Given the description of an element on the screen output the (x, y) to click on. 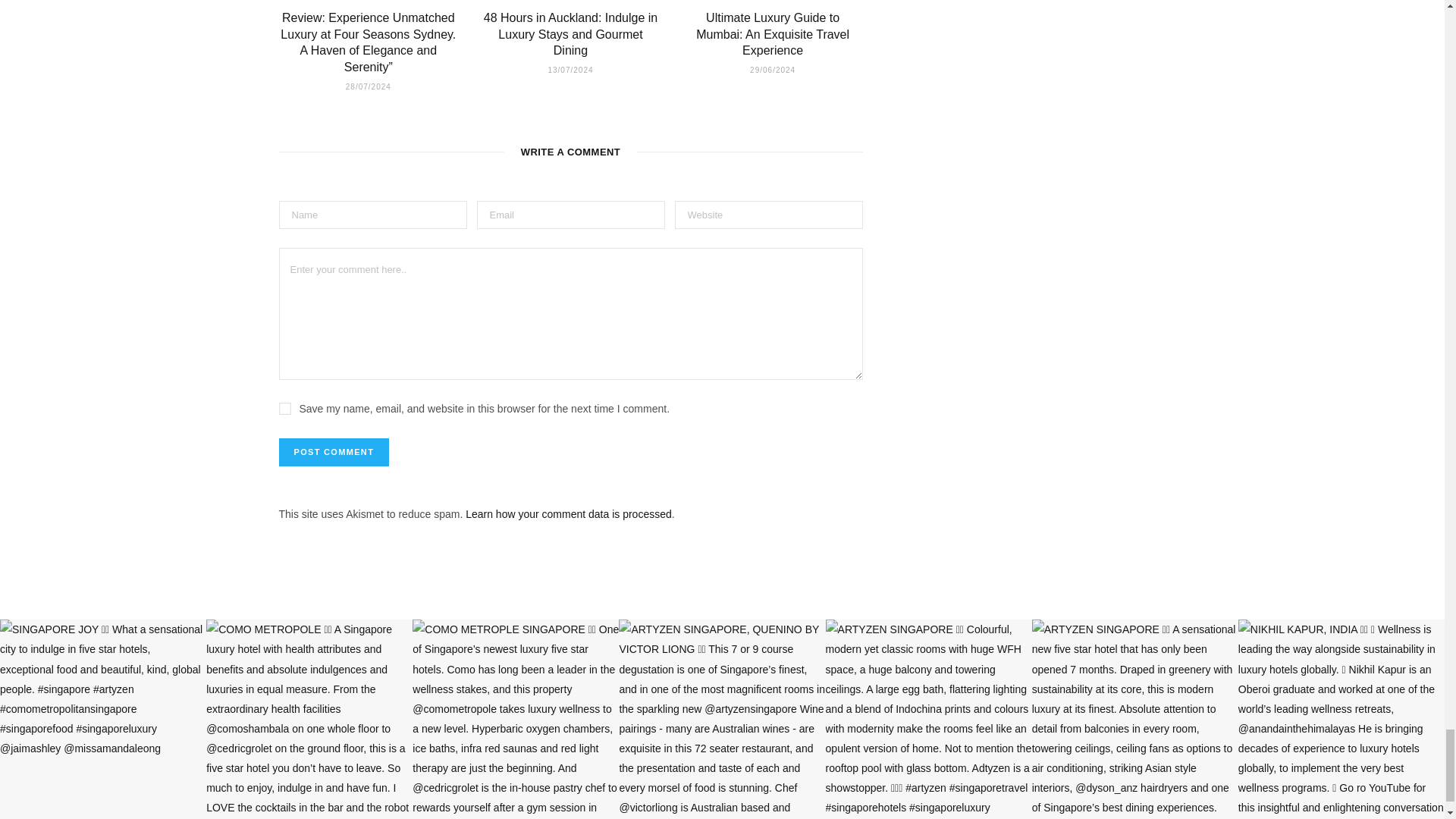
yes (285, 408)
Post Comment (334, 452)
